Given the description of an element on the screen output the (x, y) to click on. 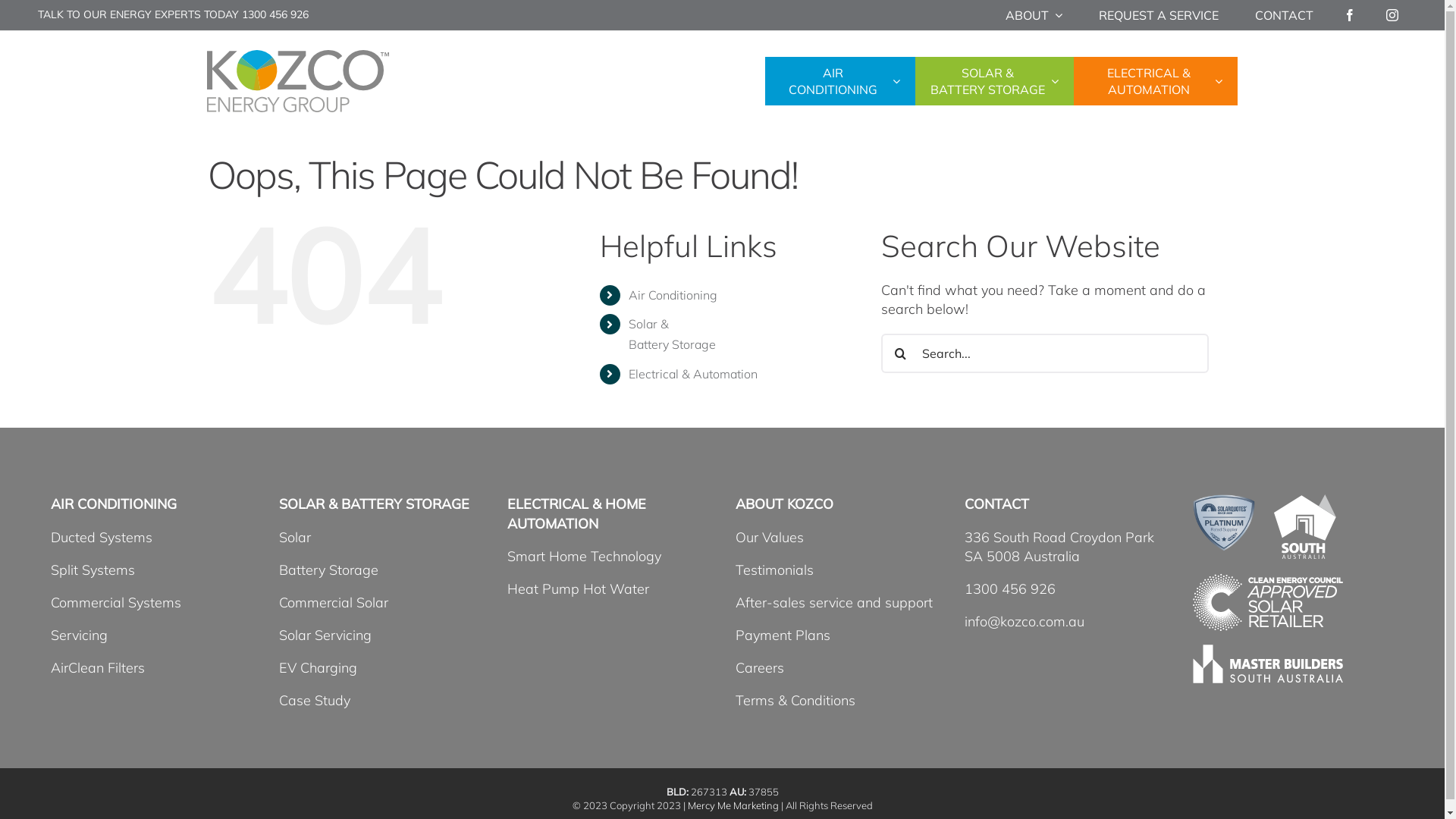
Our Values Element type: text (769, 537)
ELECTRICAL & AUTOMATION Element type: text (1155, 81)
Mercy Me Marketing Element type: text (732, 805)
Commercial Systems Element type: text (115, 602)
info@kozco.com.au Element type: text (1024, 621)
Air Conditioning Element type: text (672, 294)
AirClean Filters Element type: text (97, 667)
REQUEST A SERVICE Element type: text (1158, 14)
Battery Storage Element type: text (328, 569)
CONTACT Element type: text (996, 503)
ABOUT Element type: text (1033, 14)
Payment Plans Element type: text (782, 634)
SOLAR &
BATTERY STORAGE Element type: text (993, 81)
Solar Servicing Element type: text (325, 634)
Commercial Solar Element type: text (333, 602)
After-sales service and support Element type: text (833, 602)
CONTACT Element type: text (1284, 14)
EV Charging Element type: text (318, 667)
Electrical & Automation Element type: text (692, 373)
ABOUT KOZCO Element type: text (784, 503)
Careers Element type: text (759, 667)
Solar Element type: text (294, 537)
ELECTRICAL & HOME AUTOMATION Element type: text (576, 513)
1300 456 926 Element type: text (1009, 588)
Testimonials Element type: text (774, 569)
Case Study Element type: text (314, 700)
1300 456 926 Element type: text (274, 14)
AIR CONDITIONING Element type: text (839, 81)
Split Systems Element type: text (92, 569)
Heat Pump Hot Water Element type: text (578, 588)
Ducted Systems Element type: text (101, 537)
SOLAR & BATTERY STORAGE Element type: text (374, 503)
Servicing Element type: text (78, 634)
Terms & Conditions Element type: text (795, 700)
Solar &
Battery Storage Element type: text (671, 333)
Smart Home Technology Element type: text (584, 555)
AIR CONDITIONING Element type: text (113, 503)
